Given the description of an element on the screen output the (x, y) to click on. 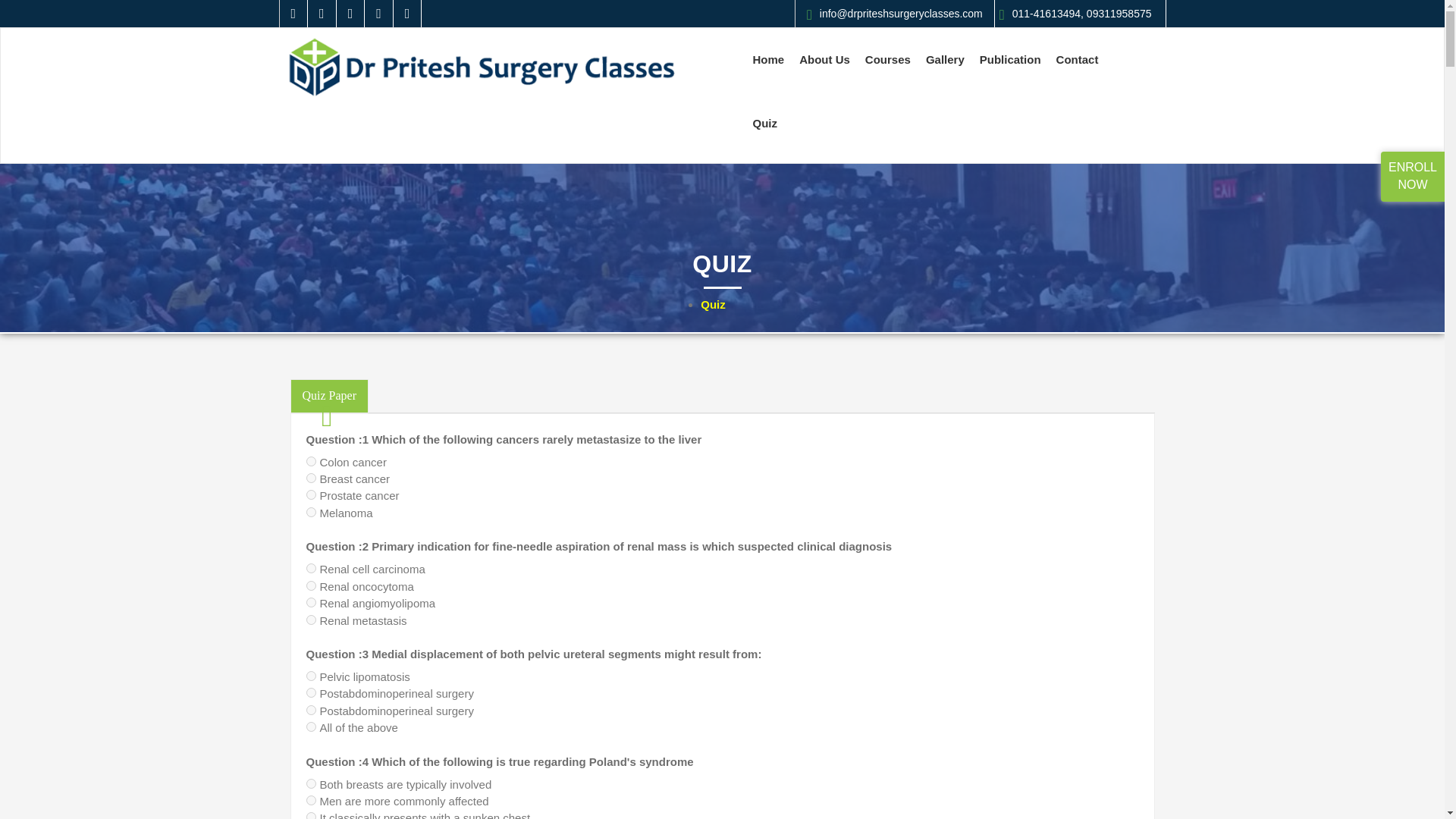
2 (310, 800)
Courses (887, 59)
2 (310, 585)
4 (310, 511)
011-41613494, 09311958575 (1075, 13)
2 (310, 692)
2 (310, 478)
1 (310, 783)
About Us (824, 59)
4 (310, 619)
3 (310, 494)
3 (310, 815)
1 (310, 675)
3 (310, 709)
3 (310, 602)
